Given the description of an element on the screen output the (x, y) to click on. 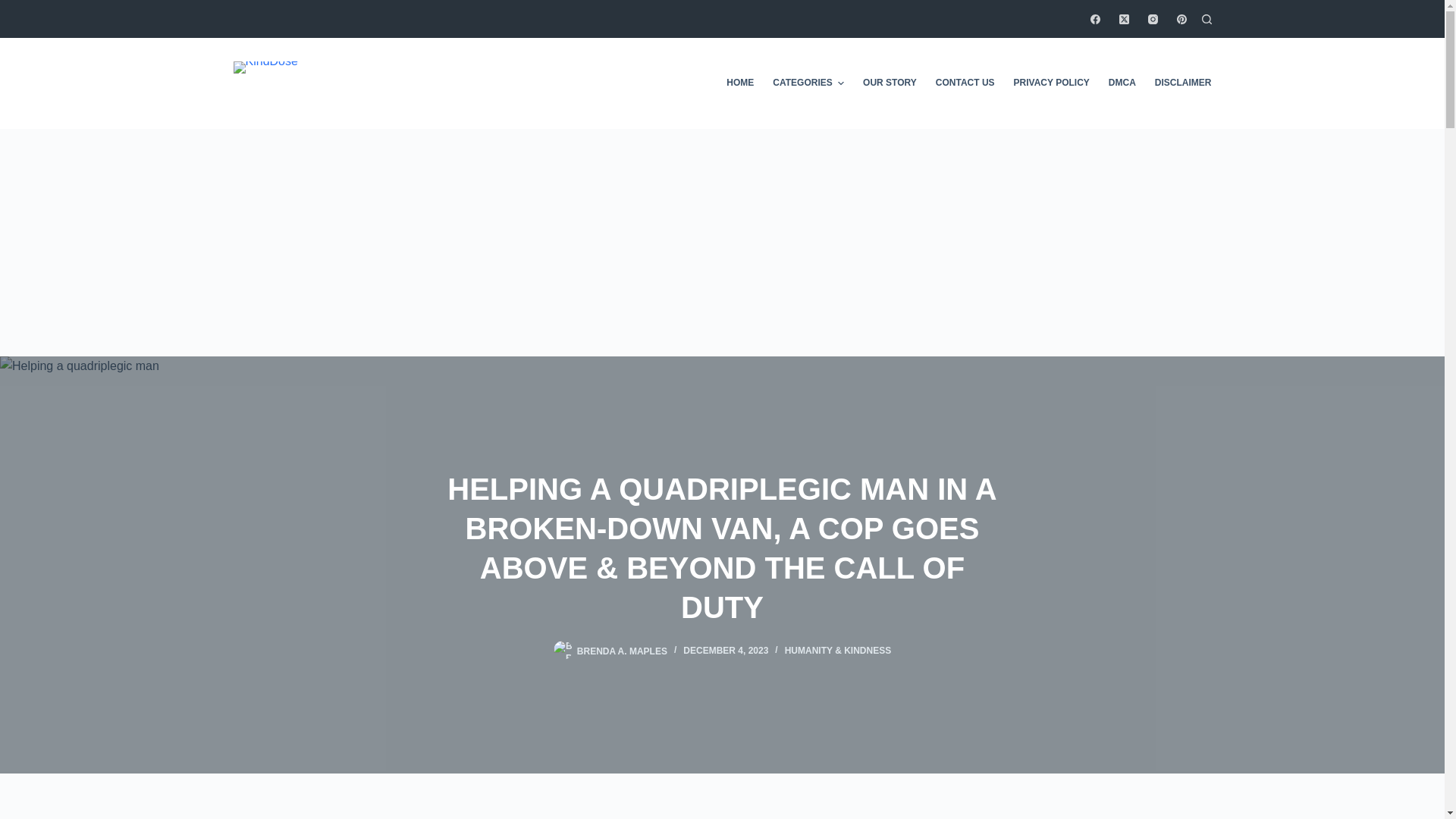
CATEGORIES (807, 82)
Posts by Brenda A. Maples (621, 650)
Skip to content (15, 7)
PRIVACY POLICY (1051, 82)
BRENDA A. MAPLES (621, 650)
